Given the description of an element on the screen output the (x, y) to click on. 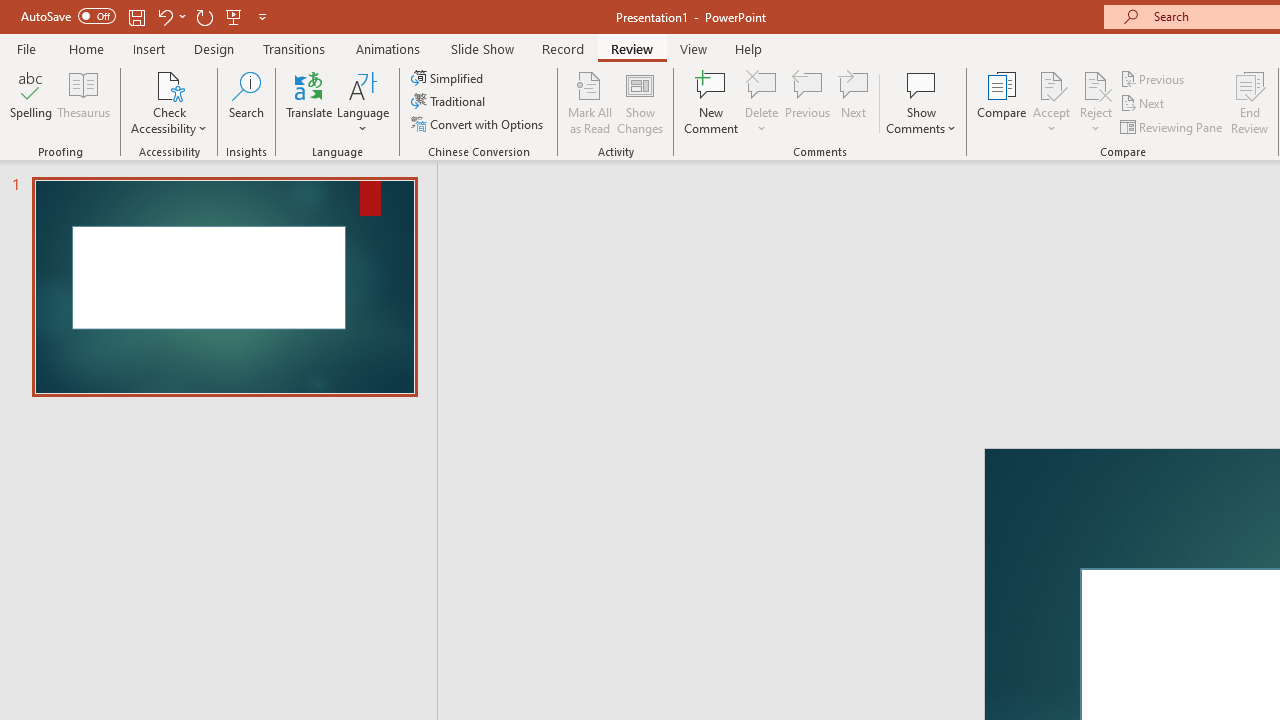
Mark All as Read (589, 102)
Translate (309, 102)
Traditional (449, 101)
Previous (1153, 78)
Accept (1051, 102)
